Given the description of an element on the screen output the (x, y) to click on. 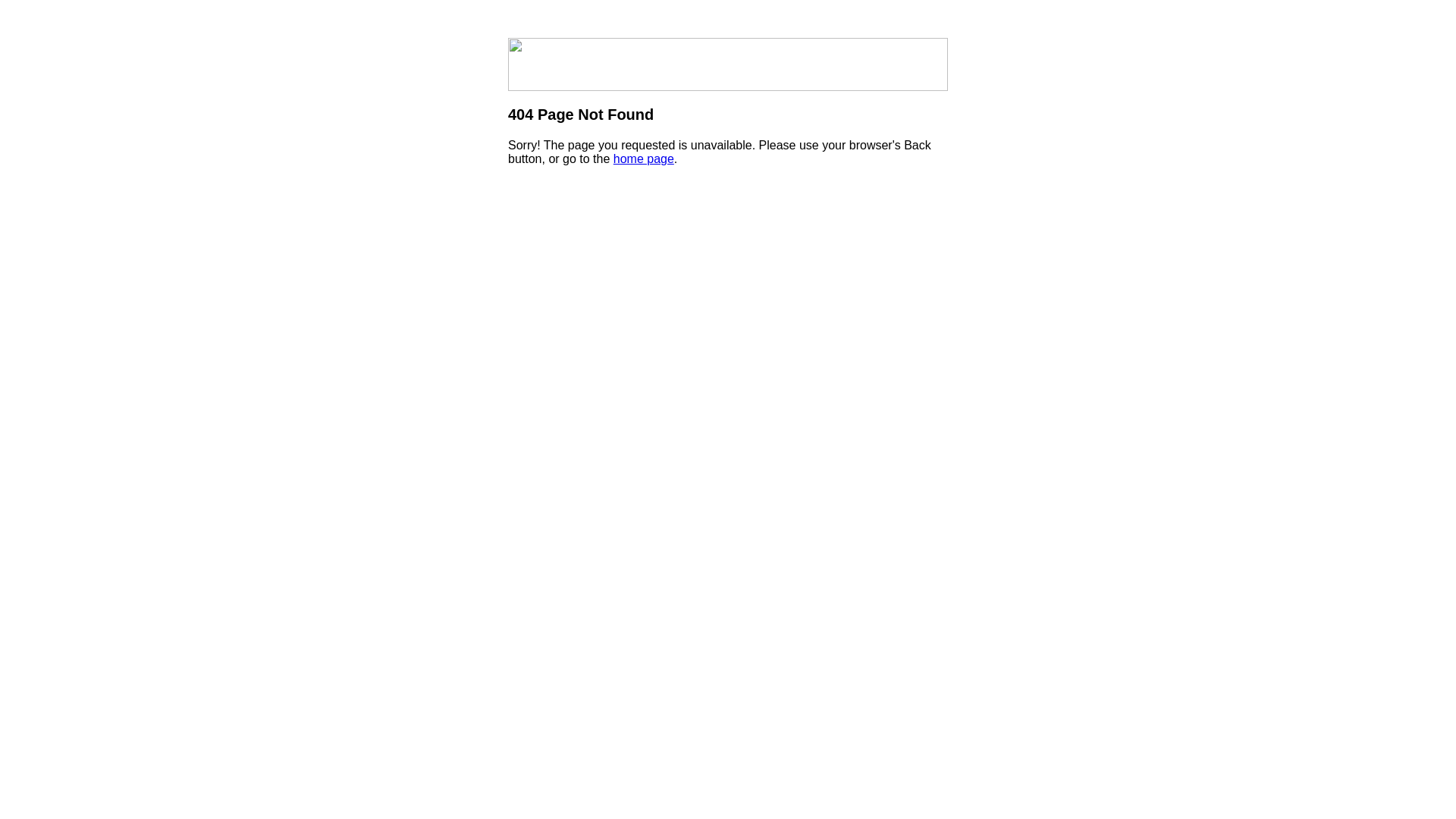
home page Element type: text (643, 158)
